Given the description of an element on the screen output the (x, y) to click on. 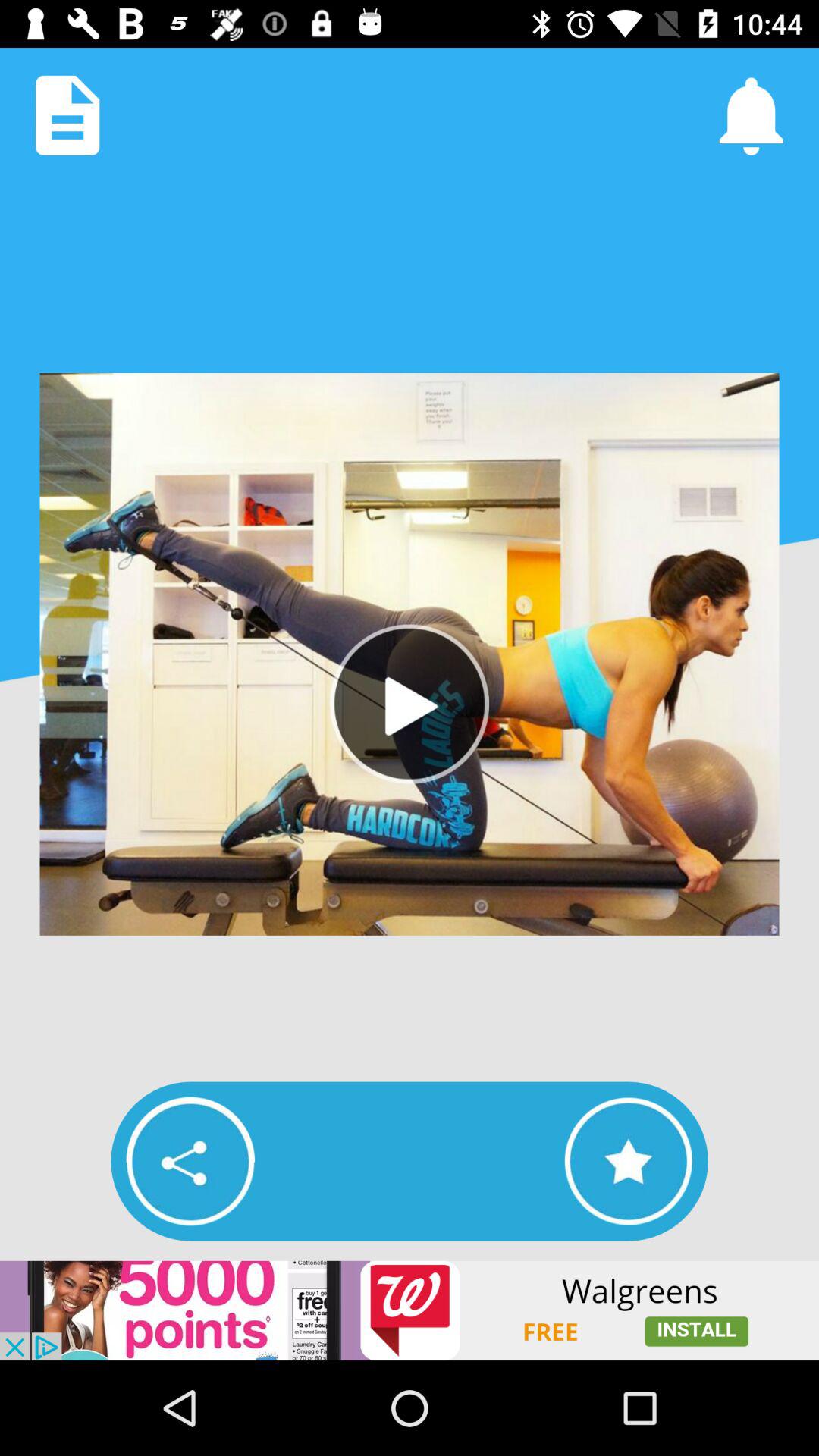
share the article (190, 1161)
